Given the description of an element on the screen output the (x, y) to click on. 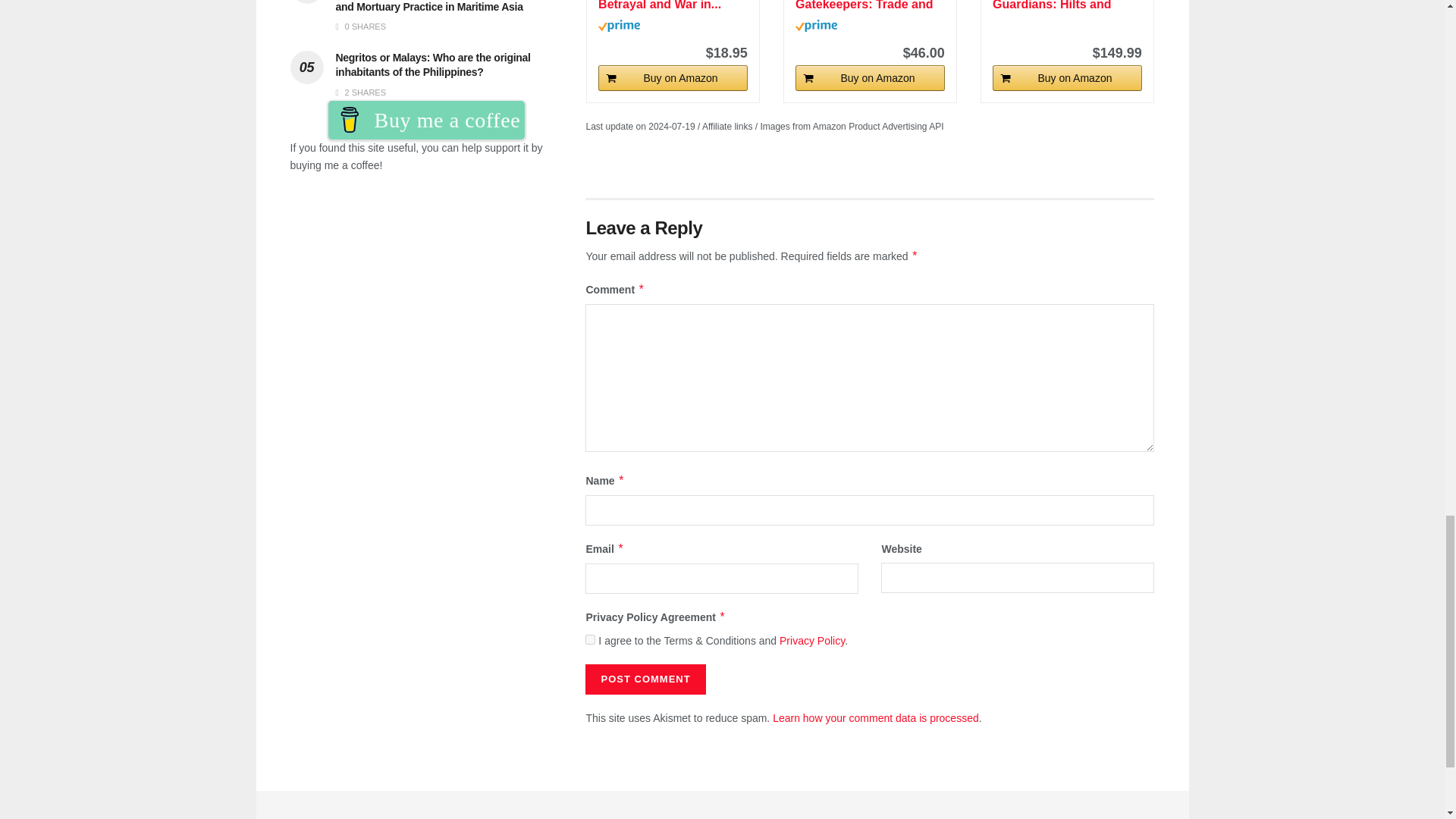
Post Comment (644, 679)
on (590, 639)
